Given the description of an element on the screen output the (x, y) to click on. 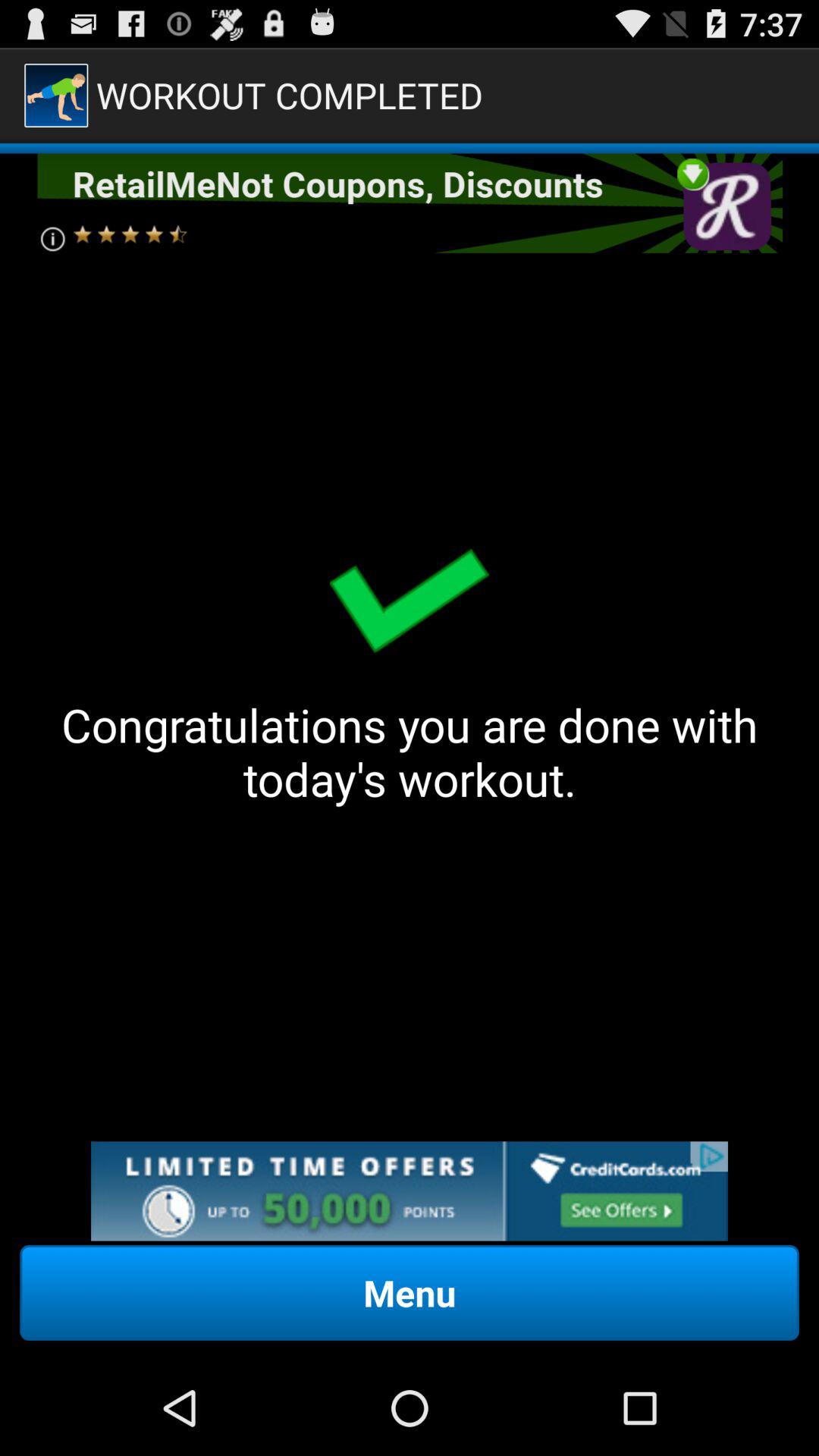
advertisement (409, 1191)
